Given the description of an element on the screen output the (x, y) to click on. 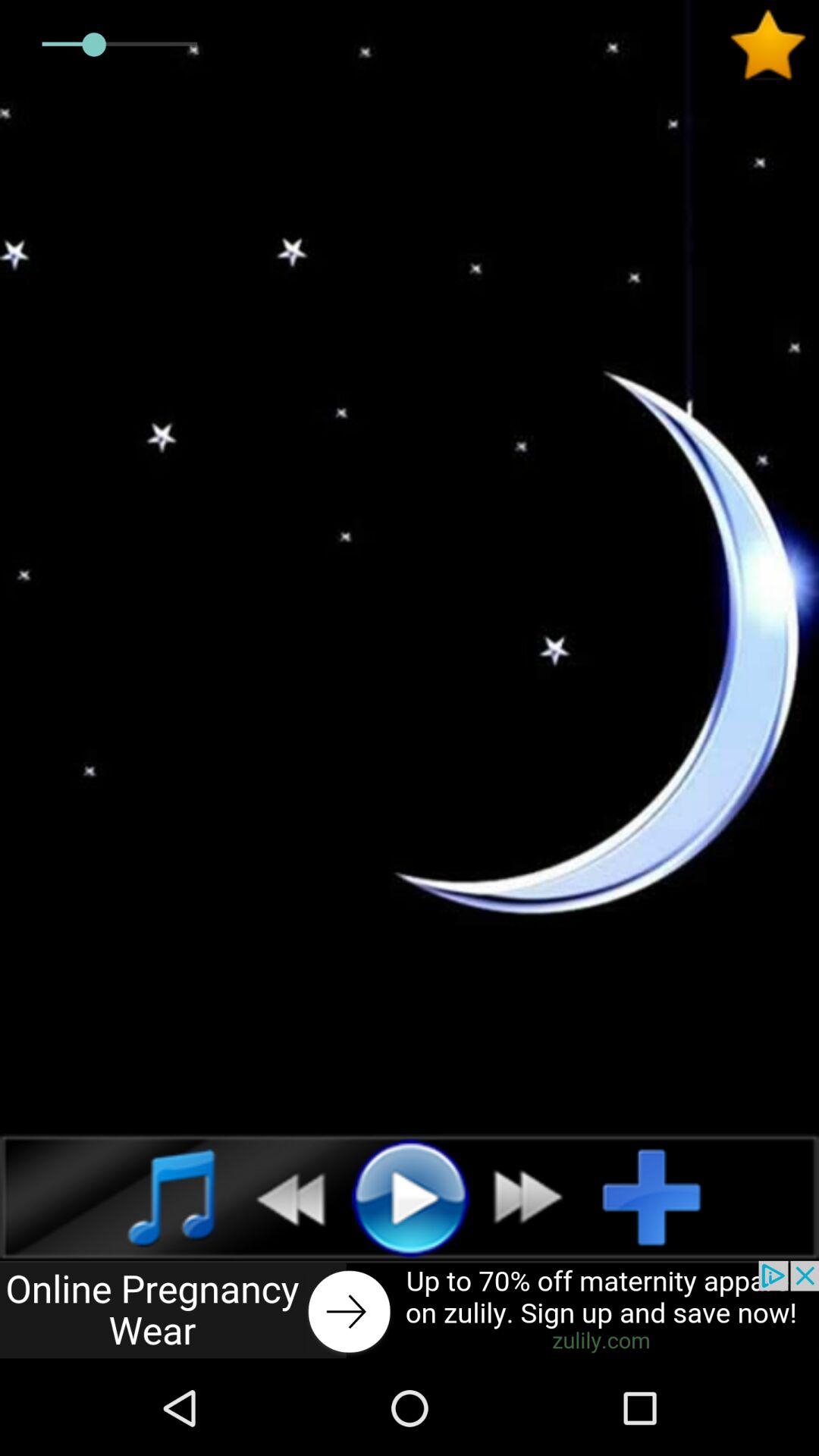
go to add option (664, 1196)
